Given the description of an element on the screen output the (x, y) to click on. 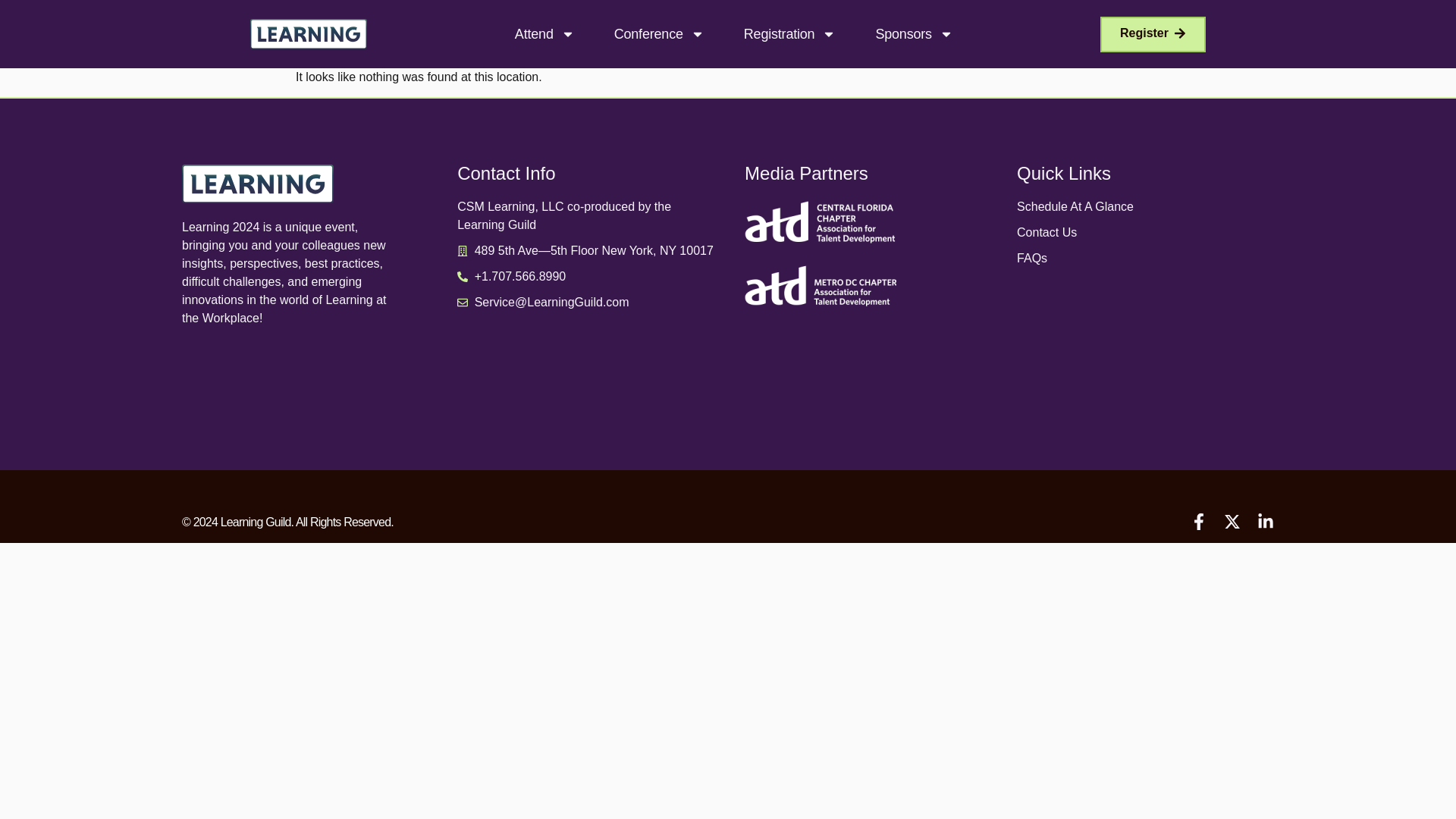
Attend (545, 33)
Conference (659, 33)
Sponsors (913, 33)
Registration (789, 33)
